Given the description of an element on the screen output the (x, y) to click on. 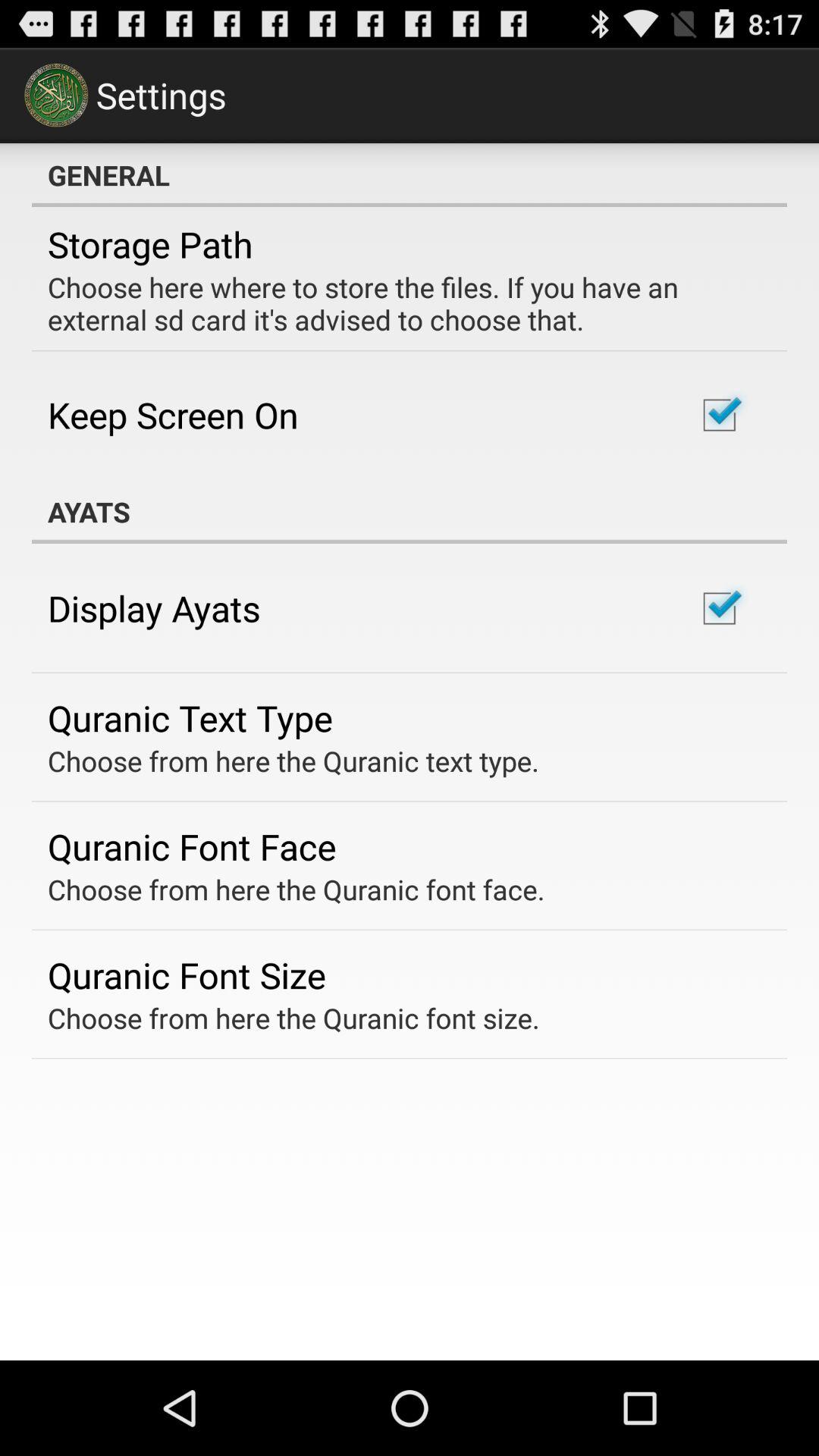
press icon above the quranic text type item (153, 608)
